Given the description of an element on the screen output the (x, y) to click on. 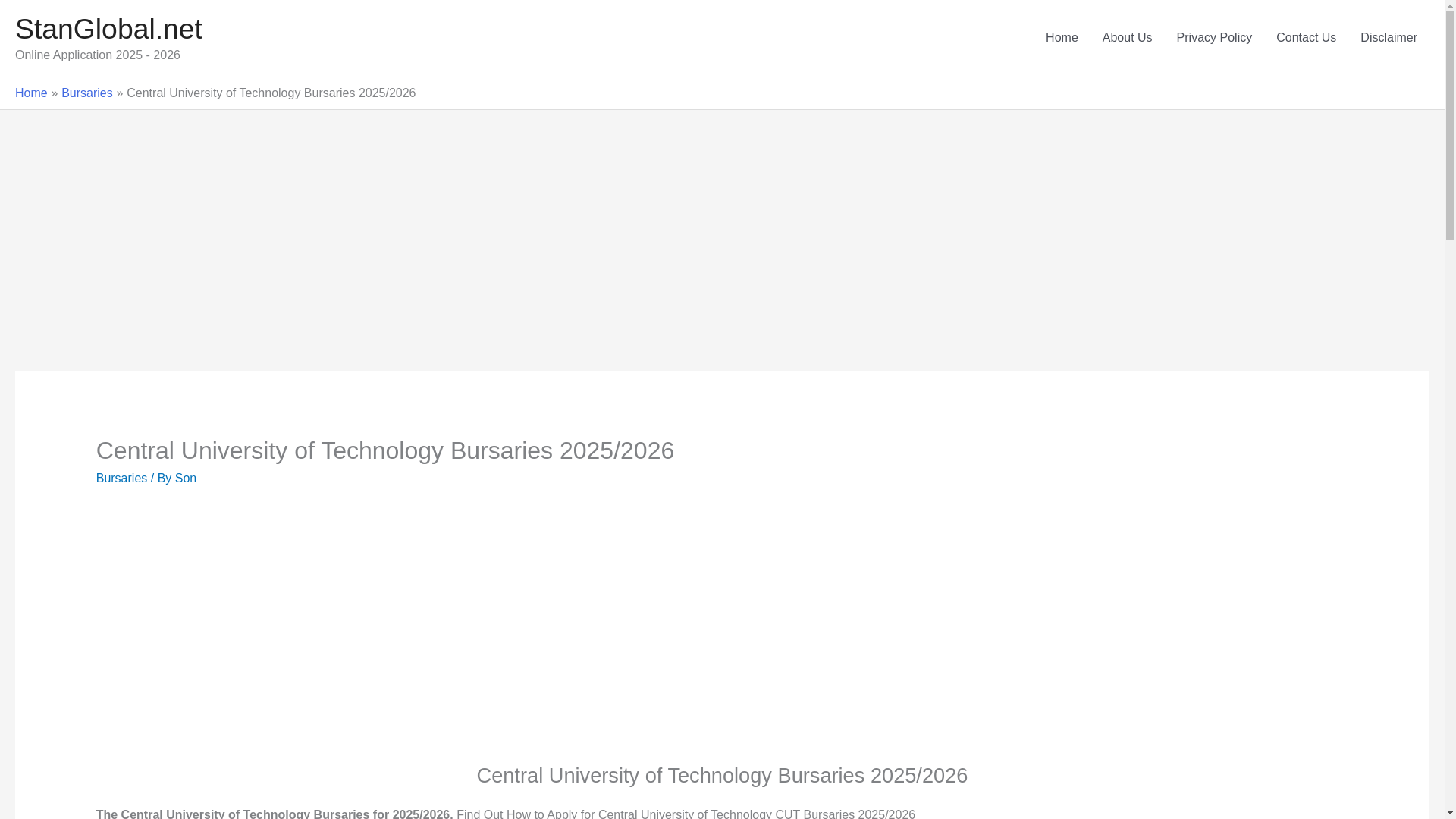
Son (185, 477)
StanGlobal.net (108, 29)
Disclaimer (1388, 38)
Home (31, 92)
View all posts by Son (185, 477)
Bursaries (87, 92)
About Us (1127, 38)
Bursaries (122, 477)
Advertisement (338, 636)
Contact Us (1305, 38)
Privacy Policy (1214, 38)
